Given the description of an element on the screen output the (x, y) to click on. 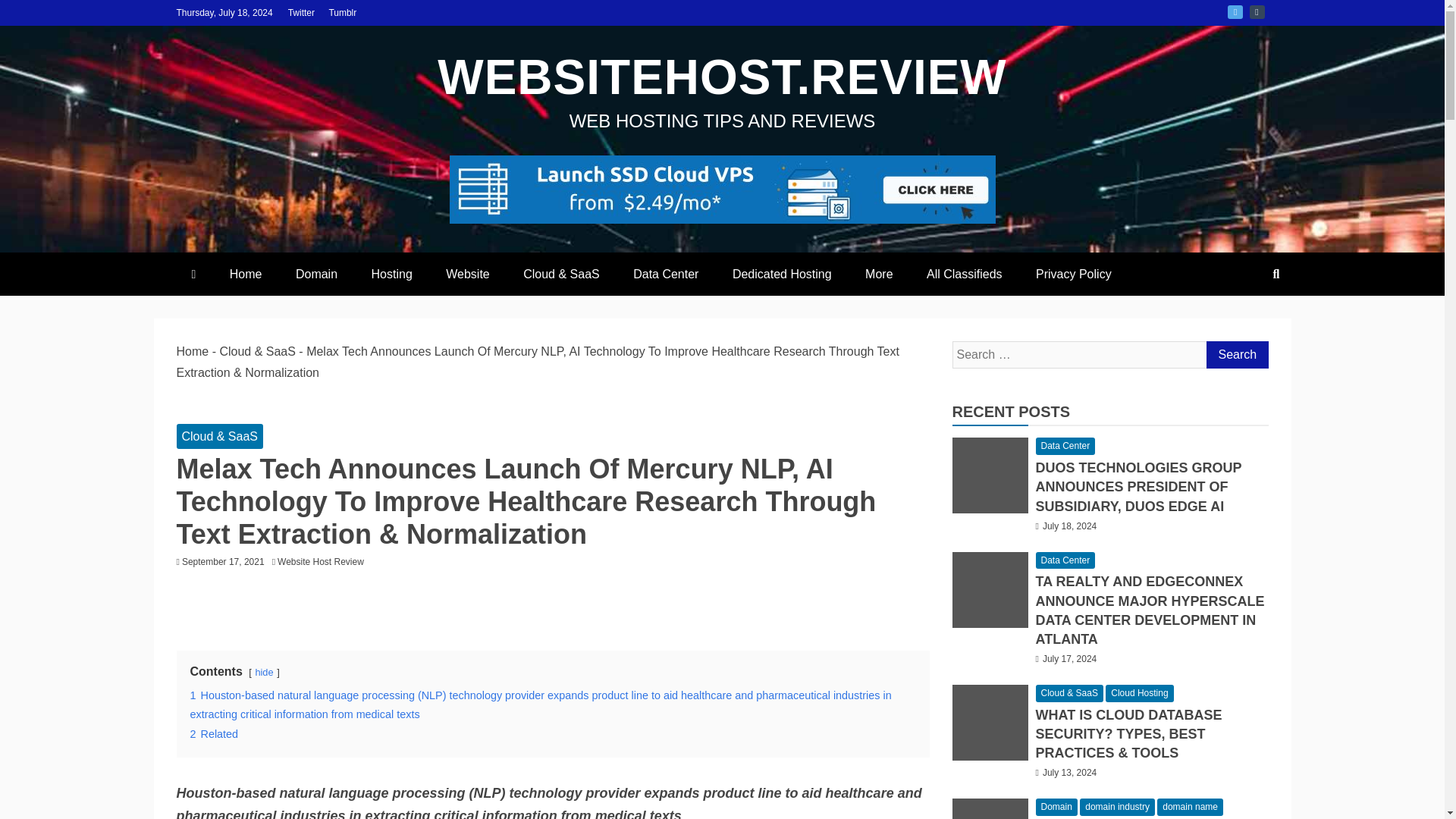
Website Host Review (324, 561)
Domain (316, 273)
Advertisement (553, 607)
Home (246, 273)
Twitter (301, 12)
Privacy Policy (1073, 273)
Tumblr (342, 12)
Twitter (1235, 11)
Privacy Policy (1073, 273)
Dedicated Hosting (782, 273)
More (878, 273)
Website Articles (467, 273)
More Articles (878, 273)
September 17, 2021 (223, 561)
WEBSITEHOST.REVIEW (722, 76)
